Given the description of an element on the screen output the (x, y) to click on. 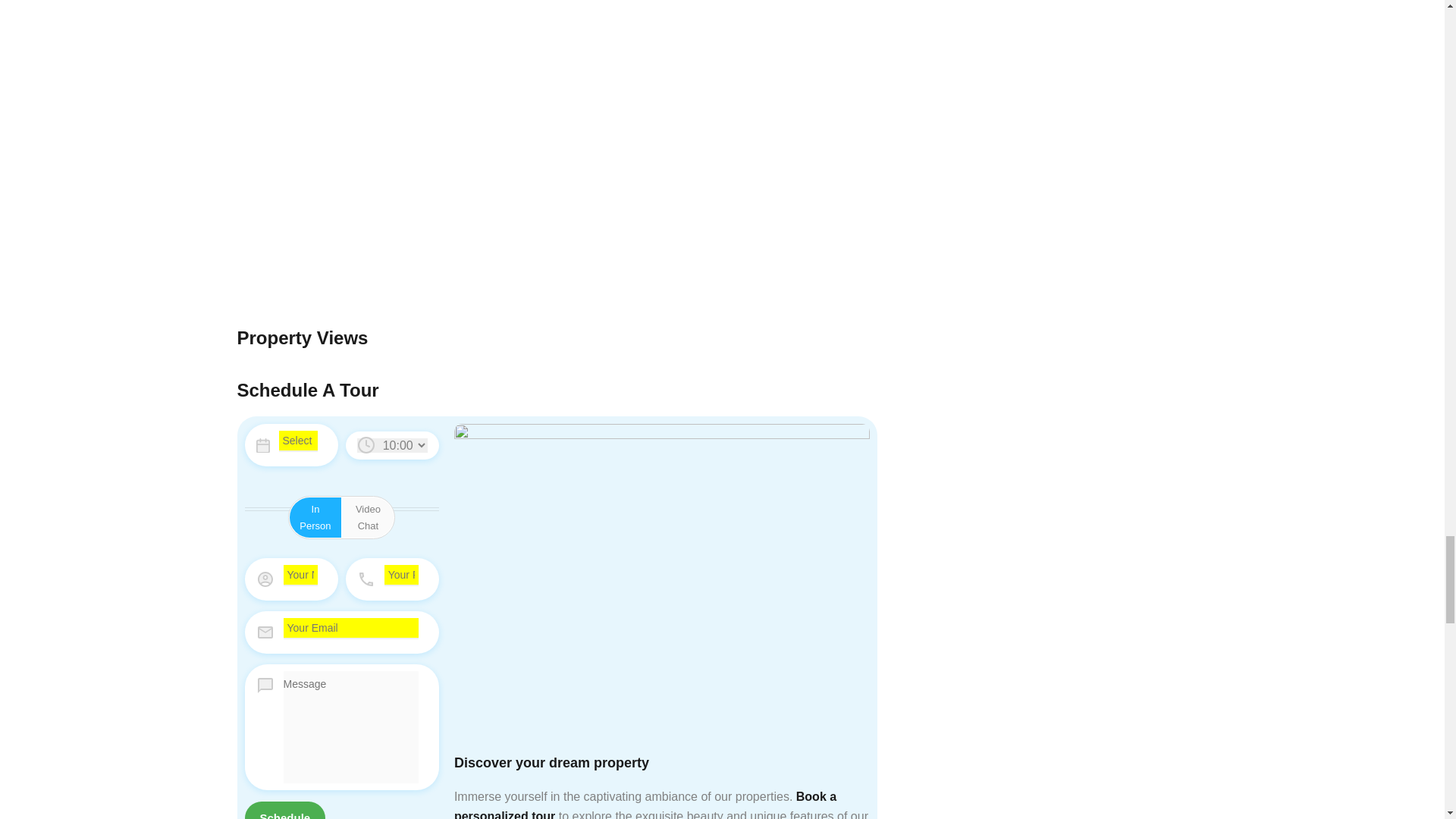
Schedule (284, 810)
